Given the description of an element on the screen output the (x, y) to click on. 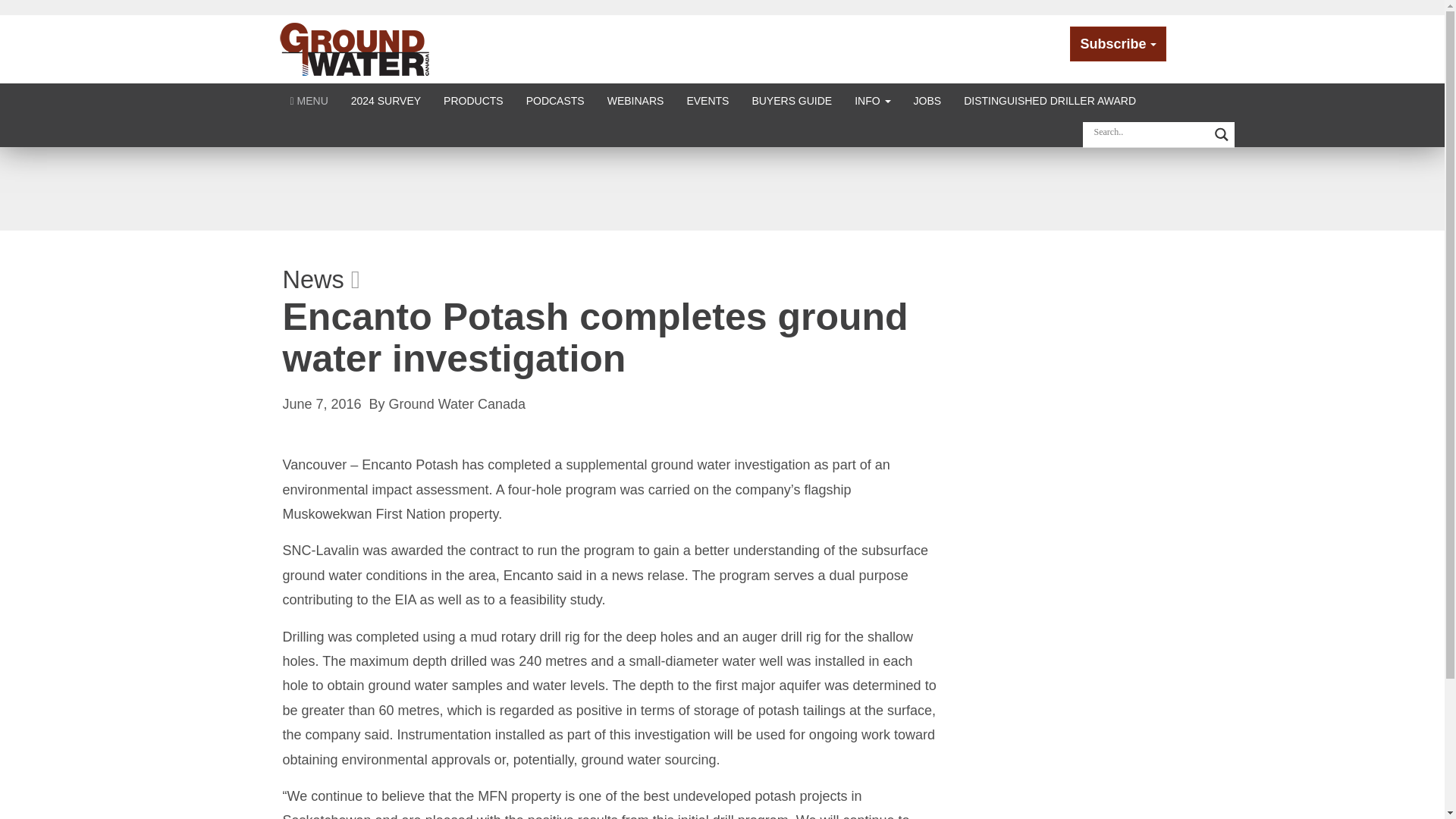
WEBINARS (635, 100)
PRODUCTS (473, 100)
Click to show site navigation (309, 100)
JOBS (927, 100)
Ground Water Canada (354, 48)
Subscribe (1118, 43)
DISTINGUISHED DRILLER AWARD (1049, 100)
2024 SURVEY (385, 100)
BUYERS GUIDE (791, 100)
3rd party ad content (721, 188)
